Given the description of an element on the screen output the (x, y) to click on. 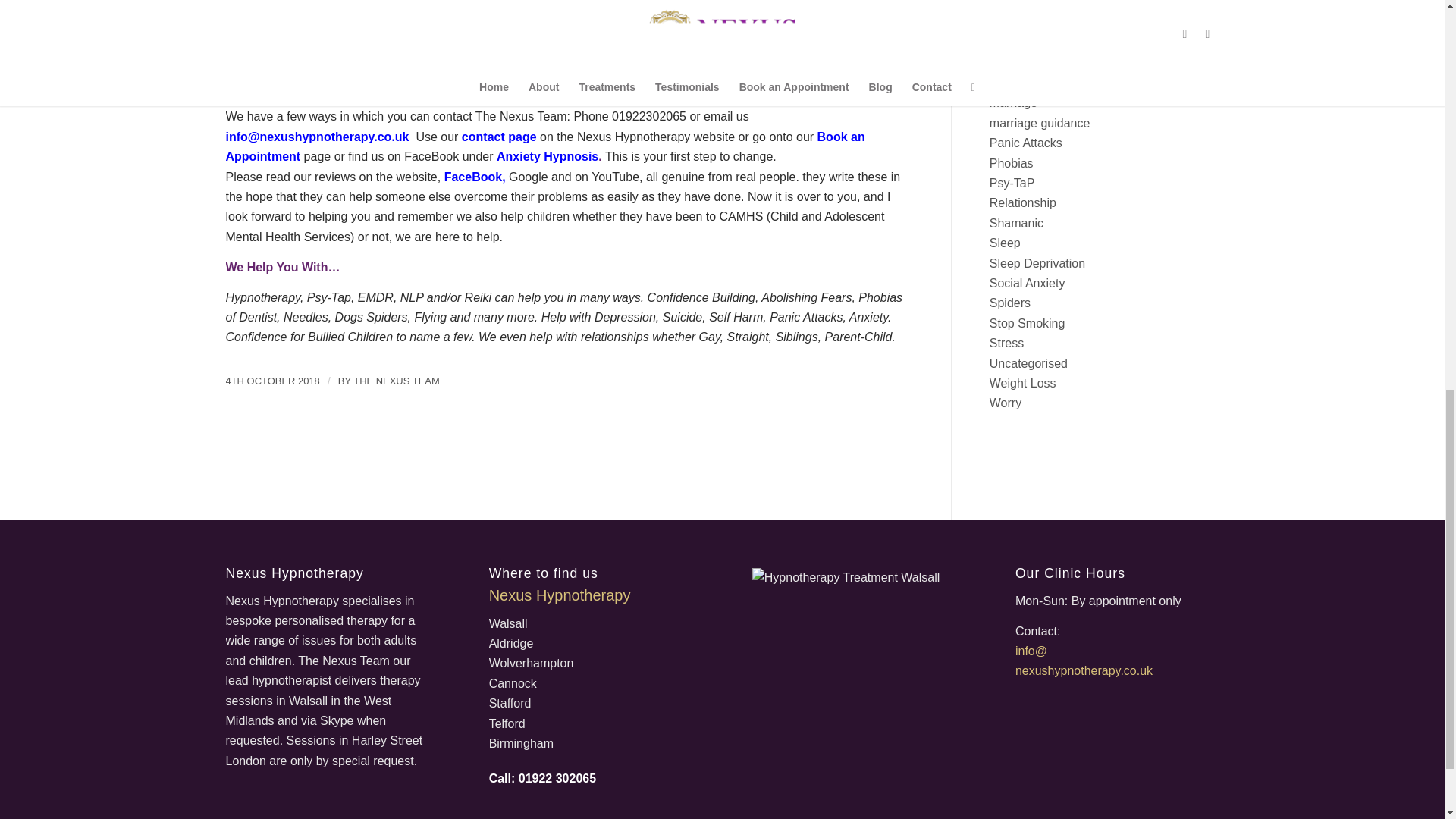
Posts by The Nexus Team (396, 380)
Click to Edit settings (556, 778)
contact page (499, 136)
